Given the description of an element on the screen output the (x, y) to click on. 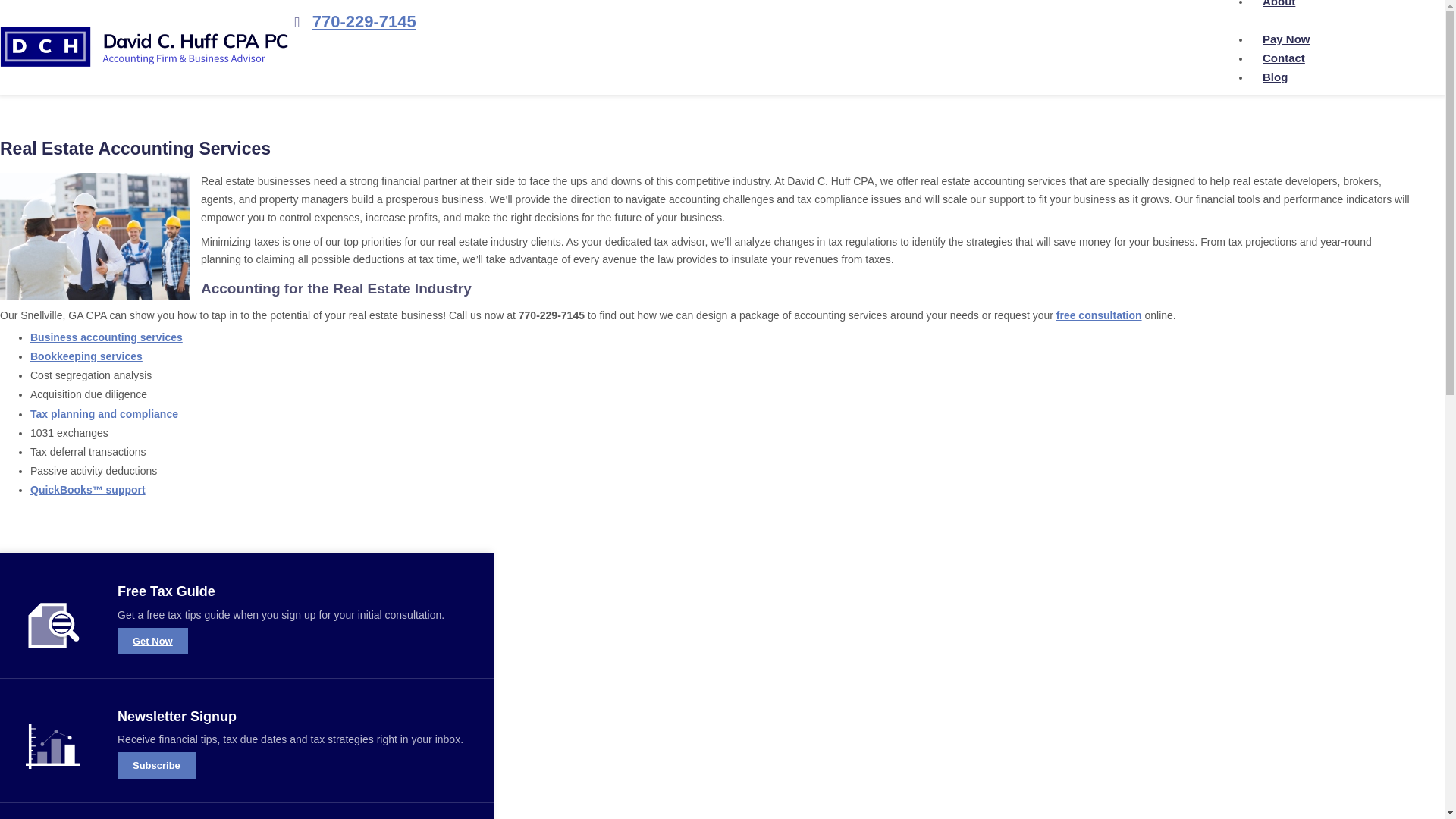
Bookkeeping services (86, 356)
Pay Now (1286, 39)
Blog (1275, 76)
About (1280, 7)
Get Now (152, 641)
Tax planning and compliance (103, 413)
free consultation (1099, 315)
Subscribe (156, 765)
770-229-7145 (352, 21)
Business accounting services (106, 337)
Contact (1283, 58)
